Given the description of an element on the screen output the (x, y) to click on. 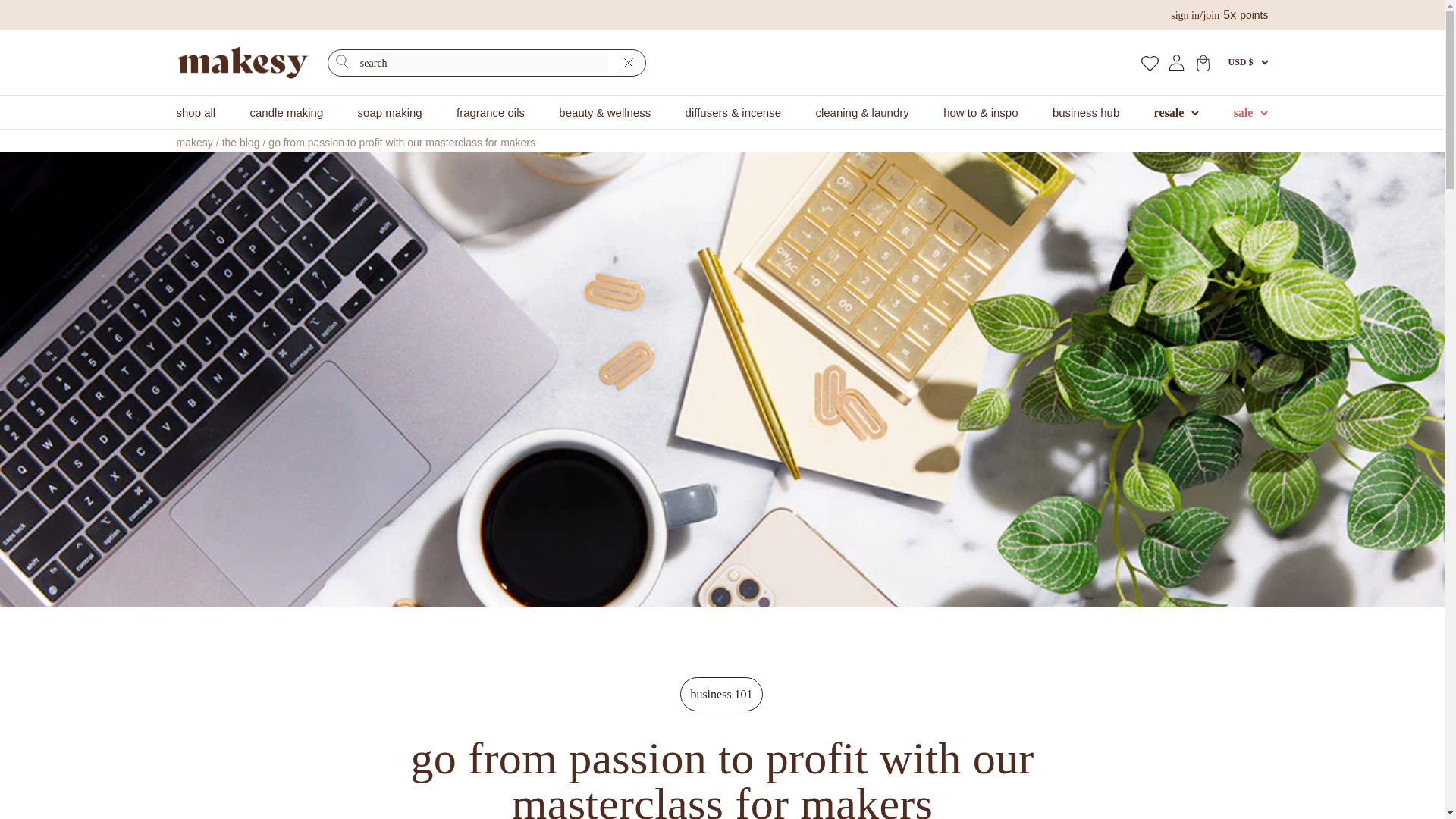
Close (627, 62)
Open account page (1177, 62)
sign in (1184, 15)
join (1211, 15)
Open cart (1203, 62)
